Given the description of an element on the screen output the (x, y) to click on. 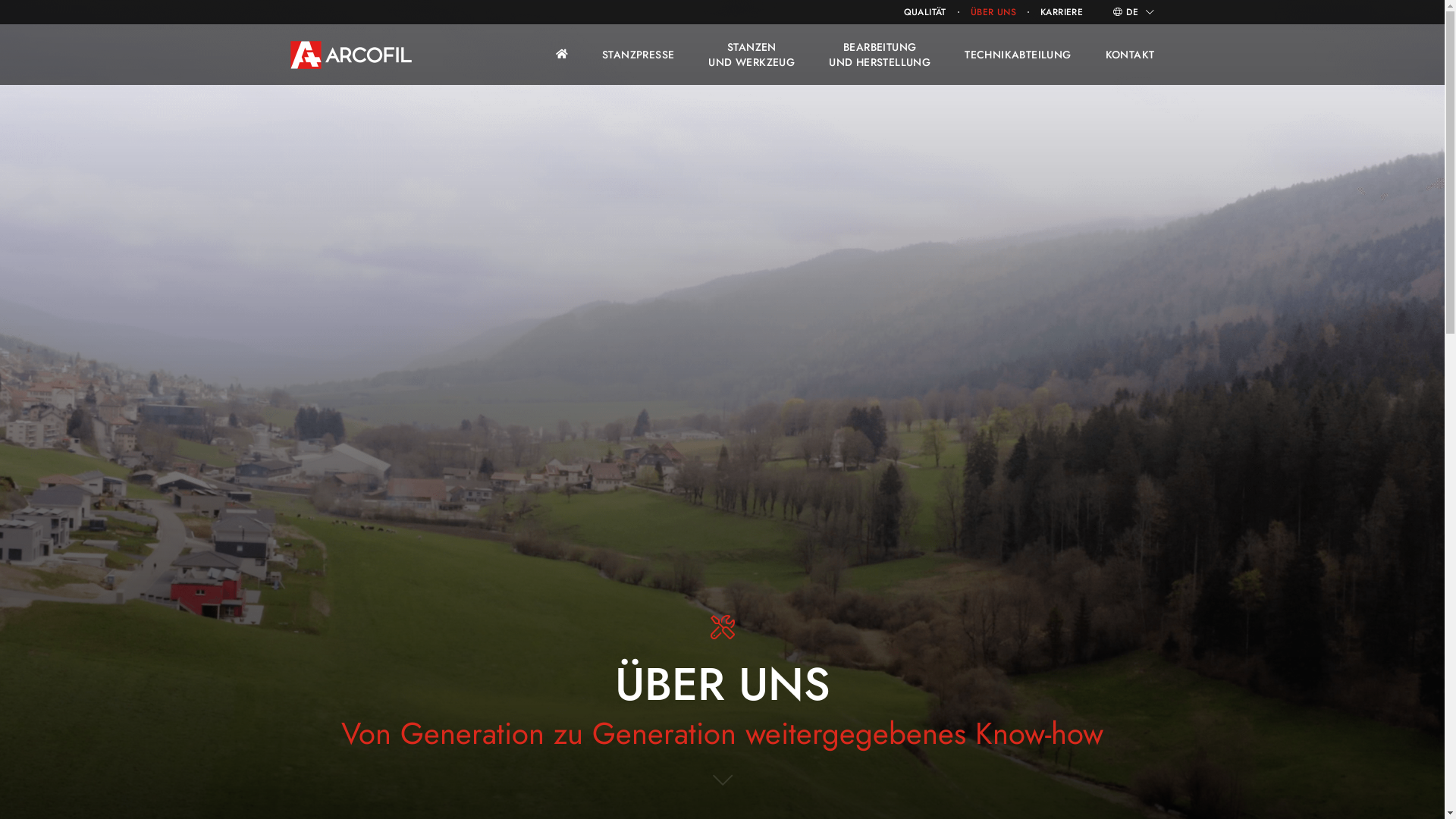
TECHNIKABTEILUNG Element type: text (1017, 54)
DE Element type: text (1140, 11)
KONTAKT Element type: text (1129, 54)
KARRIERE Element type: text (1061, 11)
STANZPRESSE Element type: text (638, 54)
STANZEN
UND WERKZEUG Element type: text (751, 54)
BEARBEITUNG
UND HERSTELLUNG Element type: text (879, 54)
